Given the description of an element on the screen output the (x, y) to click on. 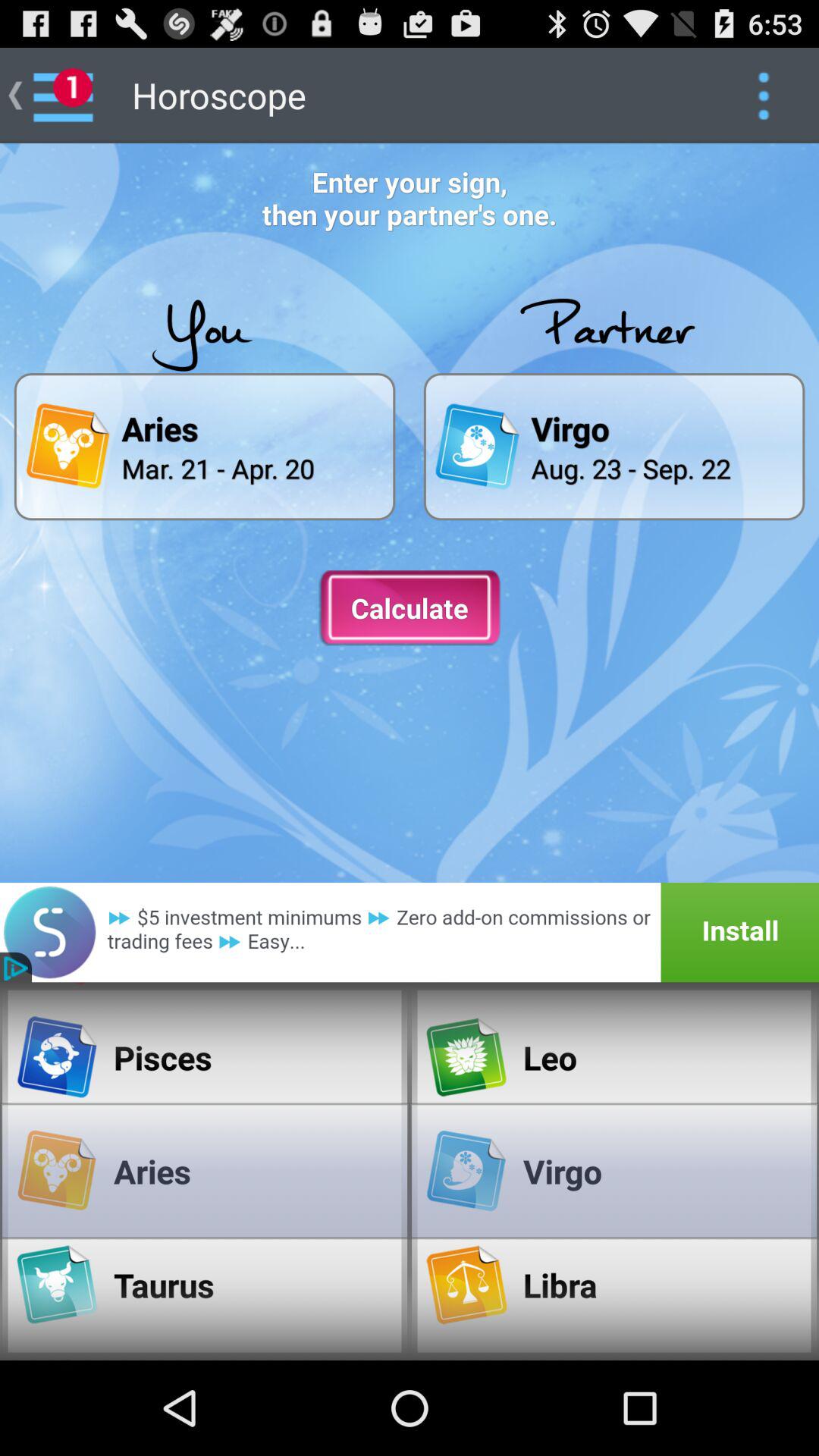
adjust settings (763, 95)
